Given the description of an element on the screen output the (x, y) to click on. 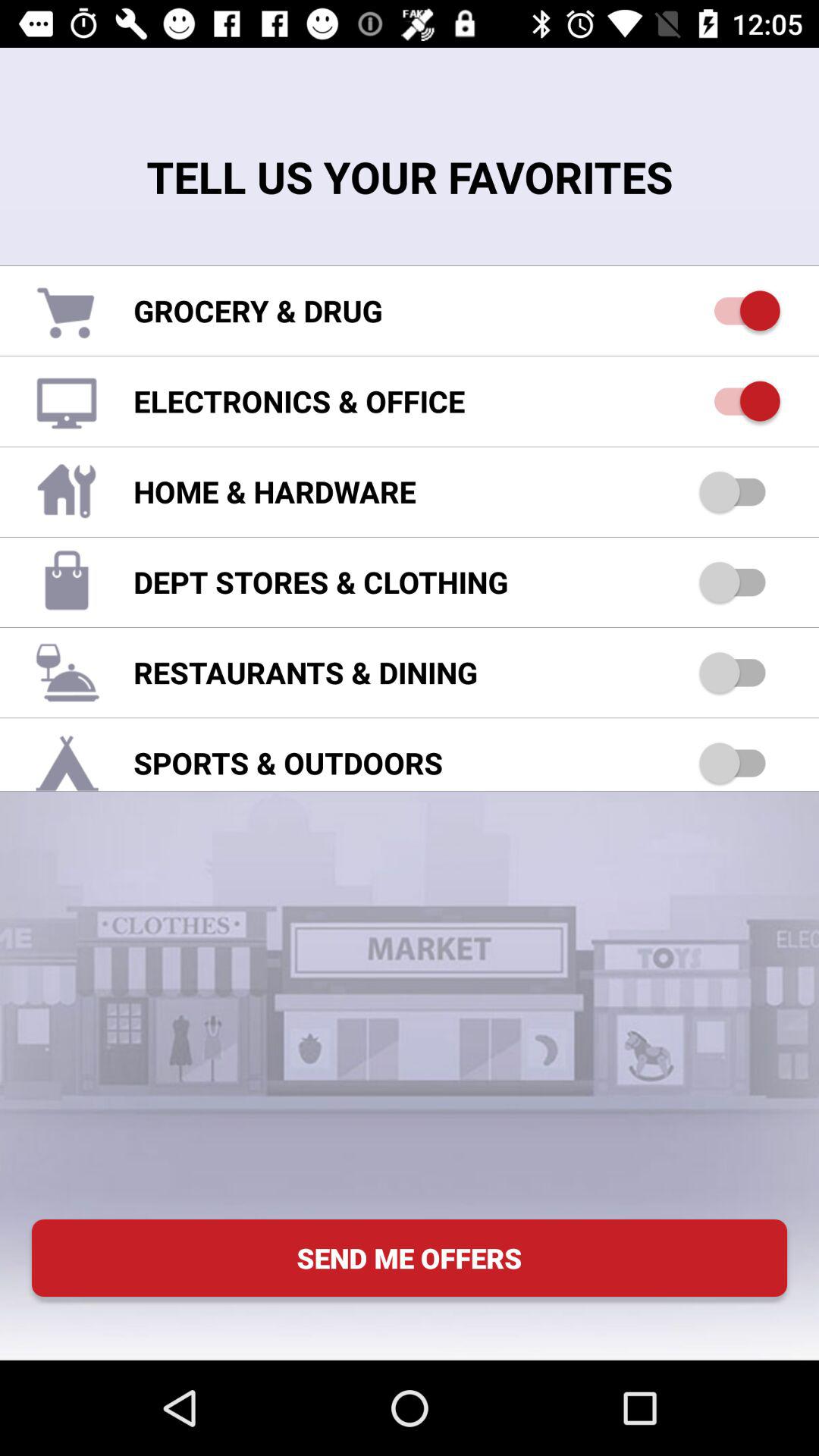
switch sports outdoor under favorites (739, 762)
